Given the description of an element on the screen output the (x, y) to click on. 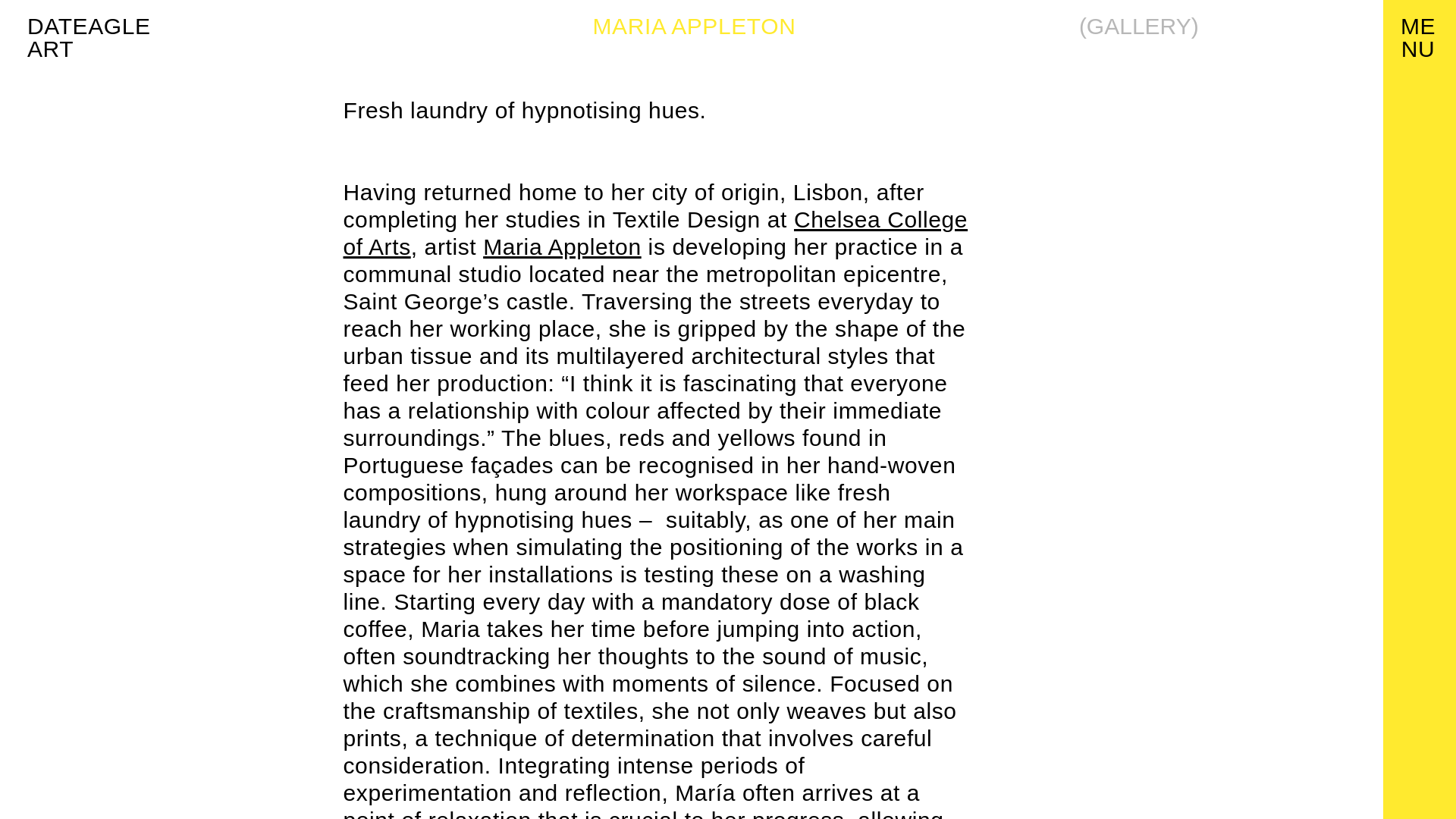
Chelsea College of Arts (655, 233)
Maria Appleton (89, 37)
Page 1 (562, 246)
Page 1 (655, 110)
